Given the description of an element on the screen output the (x, y) to click on. 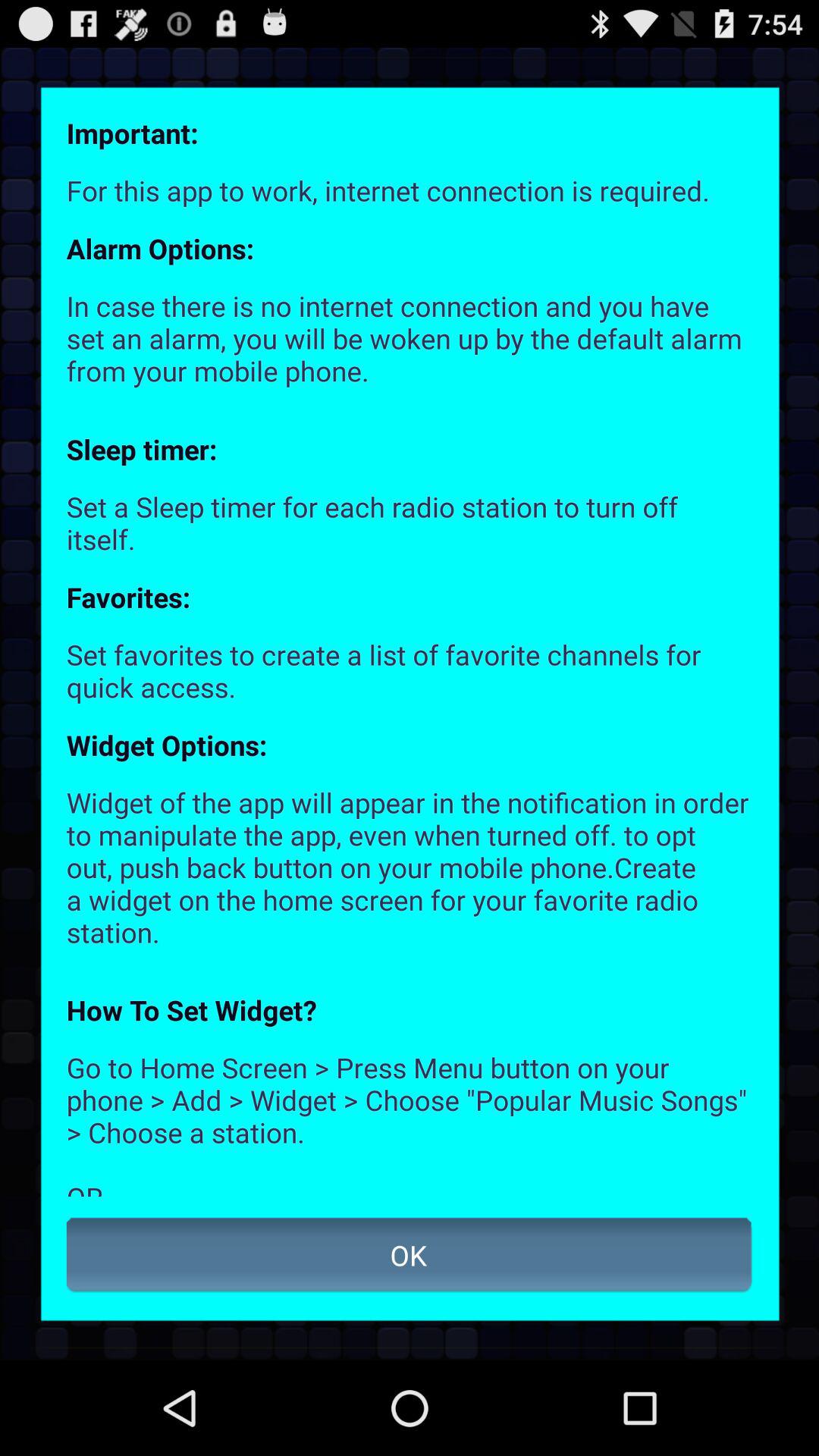
turn off the item below the go to home item (409, 1254)
